Given the description of an element on the screen output the (x, y) to click on. 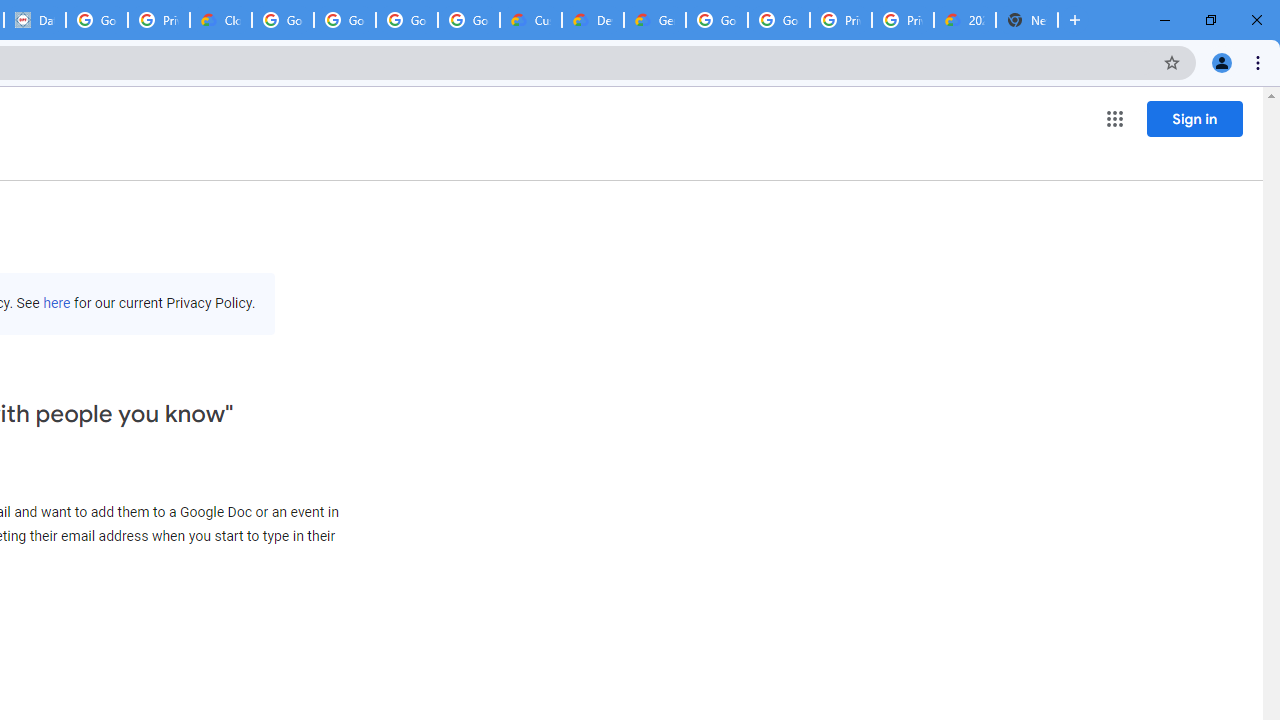
Cloud Data Processing Addendum | Google Cloud (220, 20)
here (56, 303)
New Tab (1026, 20)
Google Workspace - Specific Terms (468, 20)
Google Cloud Platform (778, 20)
Customer Care | Google Cloud (530, 20)
